Given the description of an element on the screen output the (x, y) to click on. 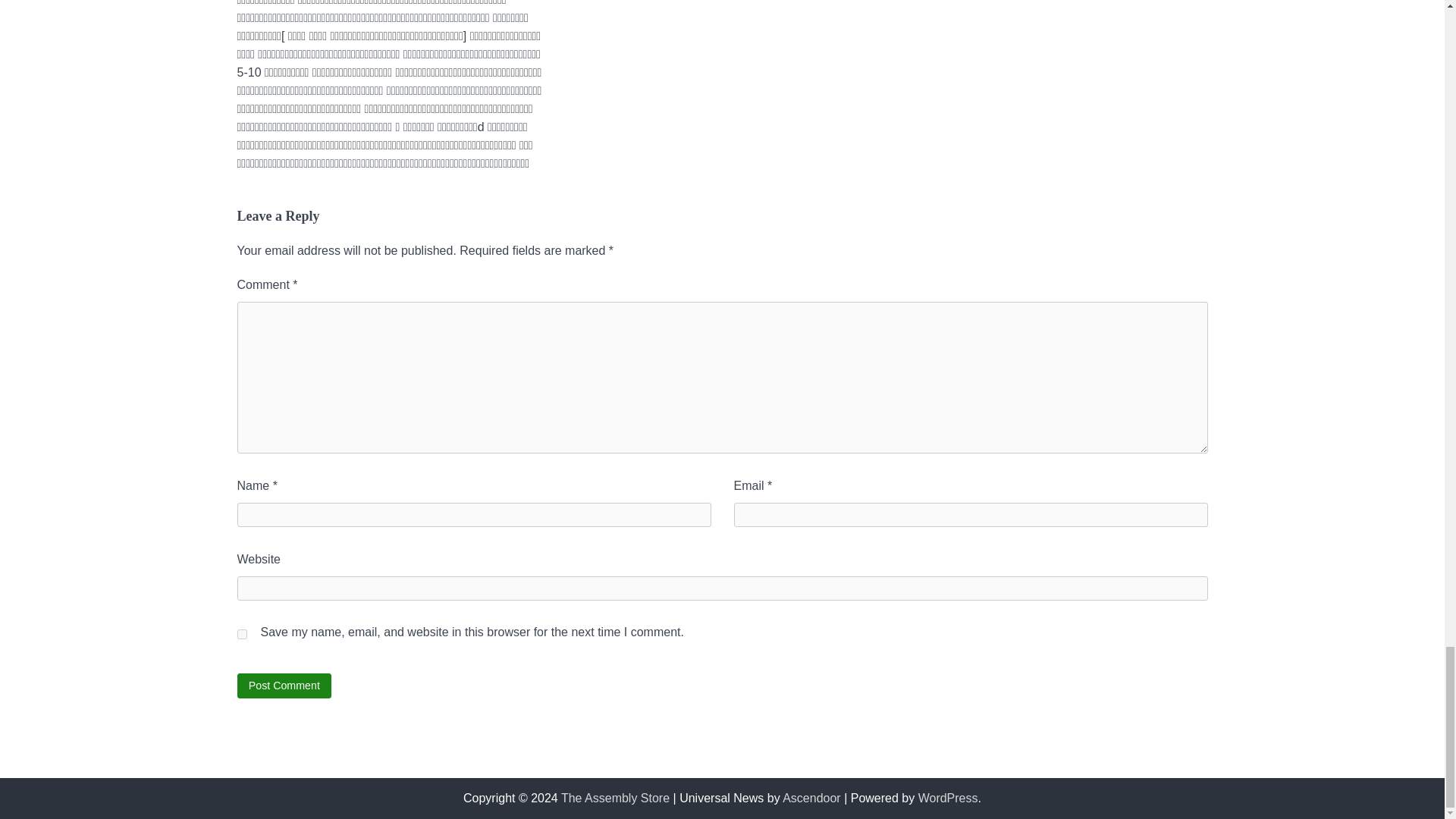
Post Comment (283, 685)
Ascendoor (812, 797)
WordPress (948, 797)
The Assembly Store (614, 797)
yes (240, 634)
Post Comment (283, 685)
